Given the description of an element on the screen output the (x, y) to click on. 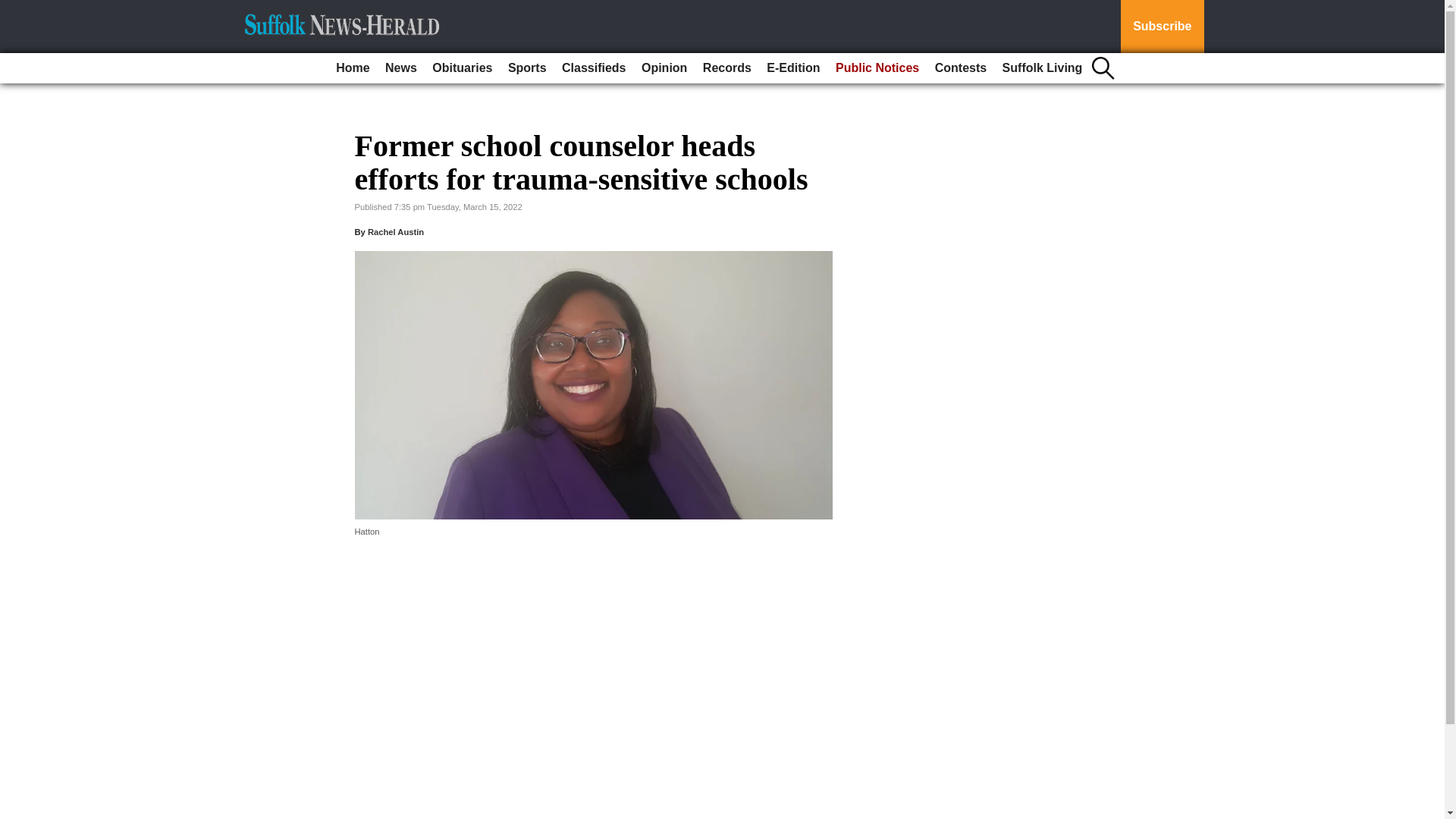
Opinion (663, 68)
Public Notices (876, 68)
Suffolk Living (1042, 68)
Classifieds (593, 68)
Subscribe (1162, 26)
E-Edition (792, 68)
Records (727, 68)
Contests (960, 68)
Rachel Austin (395, 231)
Go (13, 9)
Obituaries (461, 68)
Sports (527, 68)
News (400, 68)
Home (352, 68)
